Given the description of an element on the screen output the (x, y) to click on. 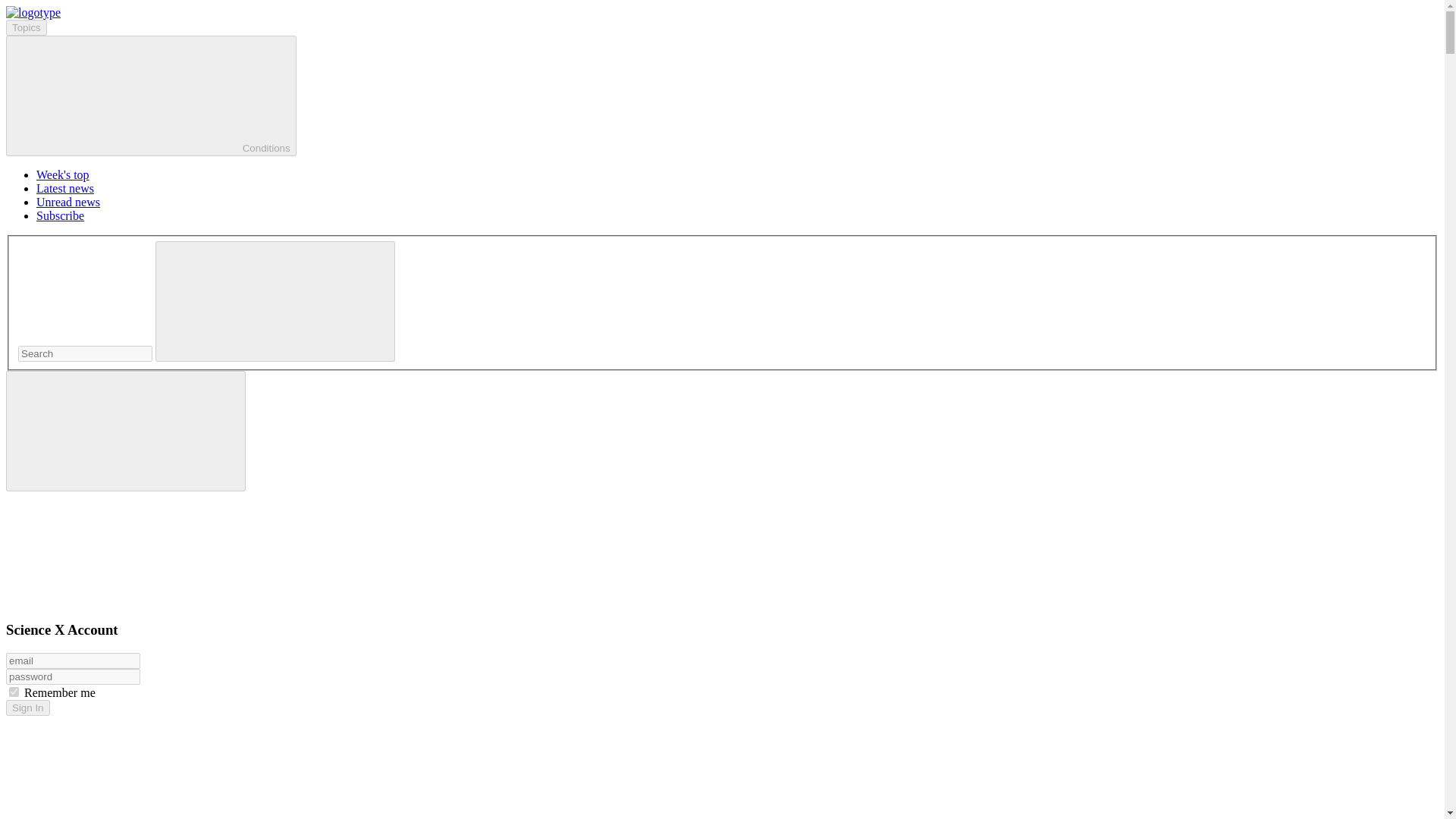
Latest news (65, 187)
on (13, 691)
Week's top (62, 174)
Subscribe (60, 215)
Conditions (151, 96)
Sign In (27, 707)
Unread news (68, 201)
Topics (25, 27)
